Given the description of an element on the screen output the (x, y) to click on. 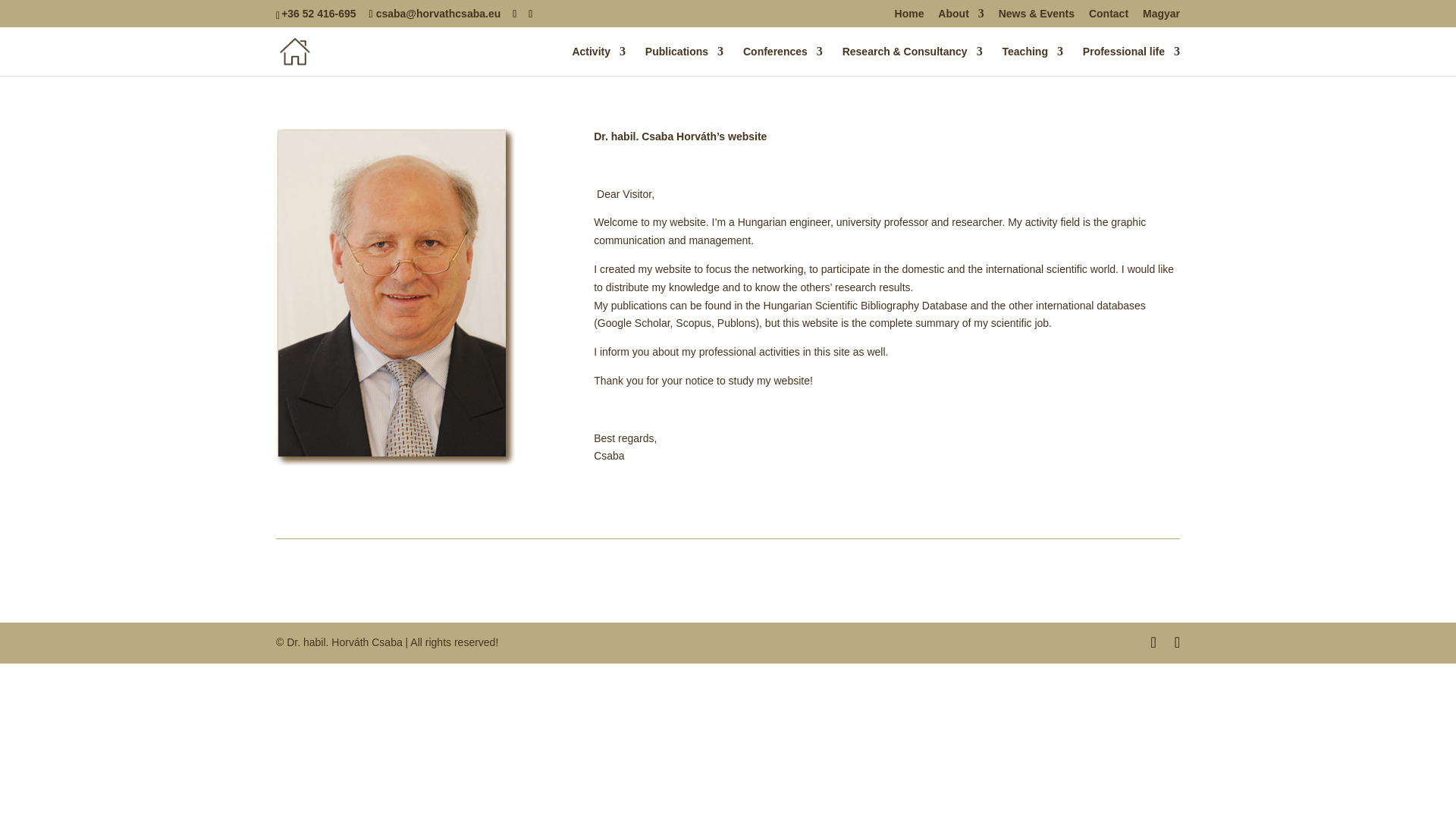
Home (909, 16)
Professional life (1131, 60)
Publications (684, 60)
Activity (599, 60)
Contact (1108, 16)
About (960, 16)
Teaching (1032, 60)
Magyar (1160, 16)
Conferences (782, 60)
